Given the description of an element on the screen output the (x, y) to click on. 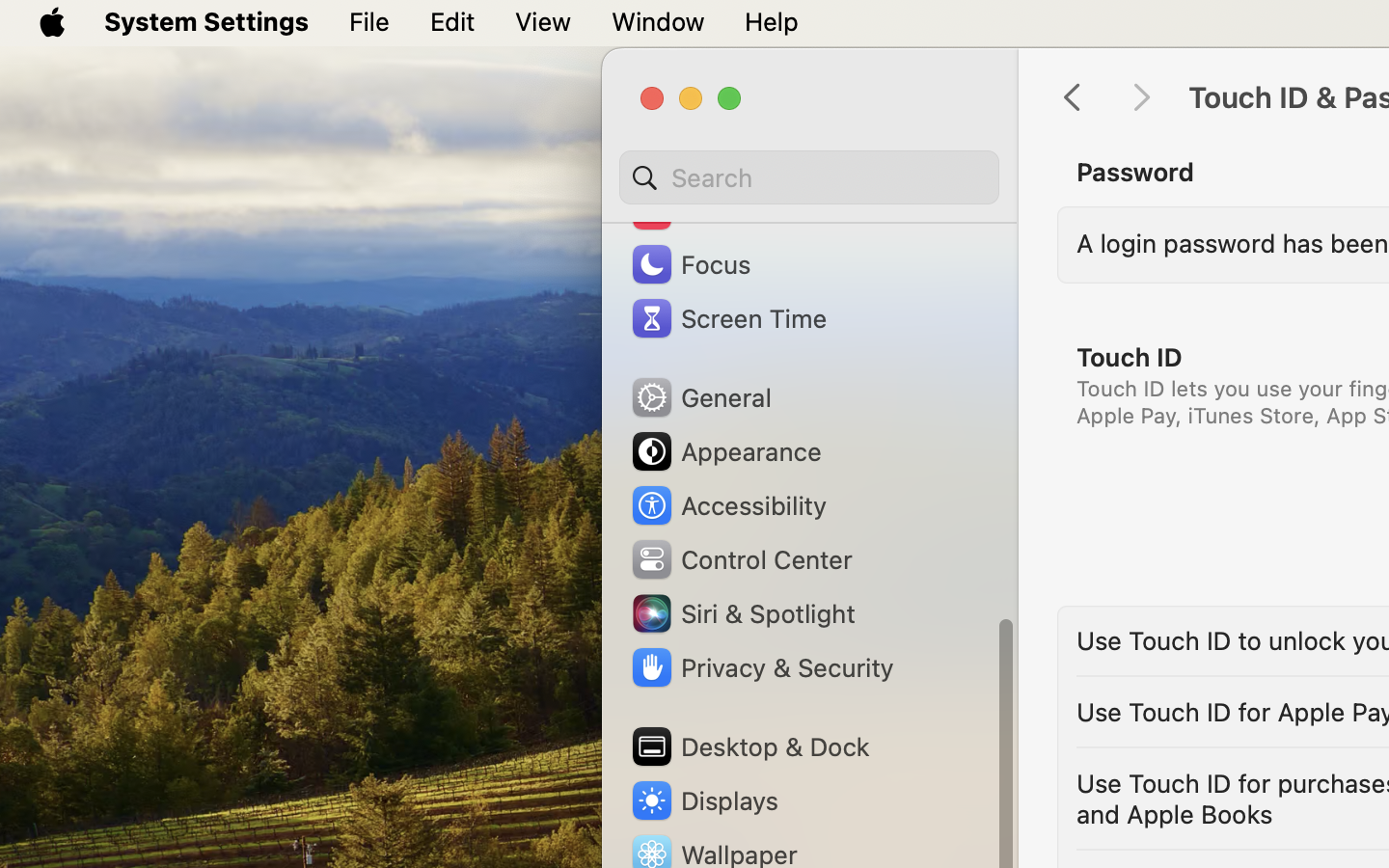
Screen Time Element type: AXStaticText (727, 318)
